Given the description of an element on the screen output the (x, y) to click on. 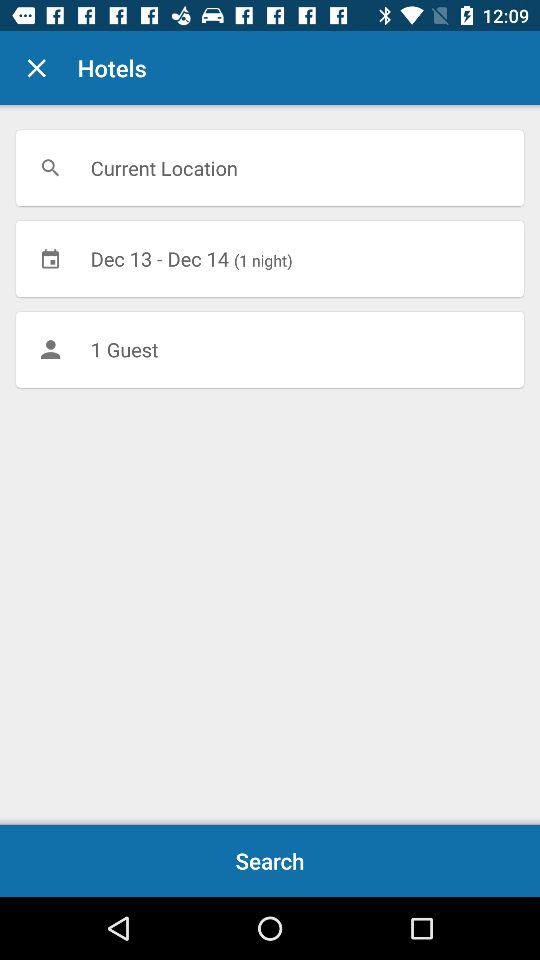
launch the item to the left of the hotels icon (36, 68)
